Given the description of an element on the screen output the (x, y) to click on. 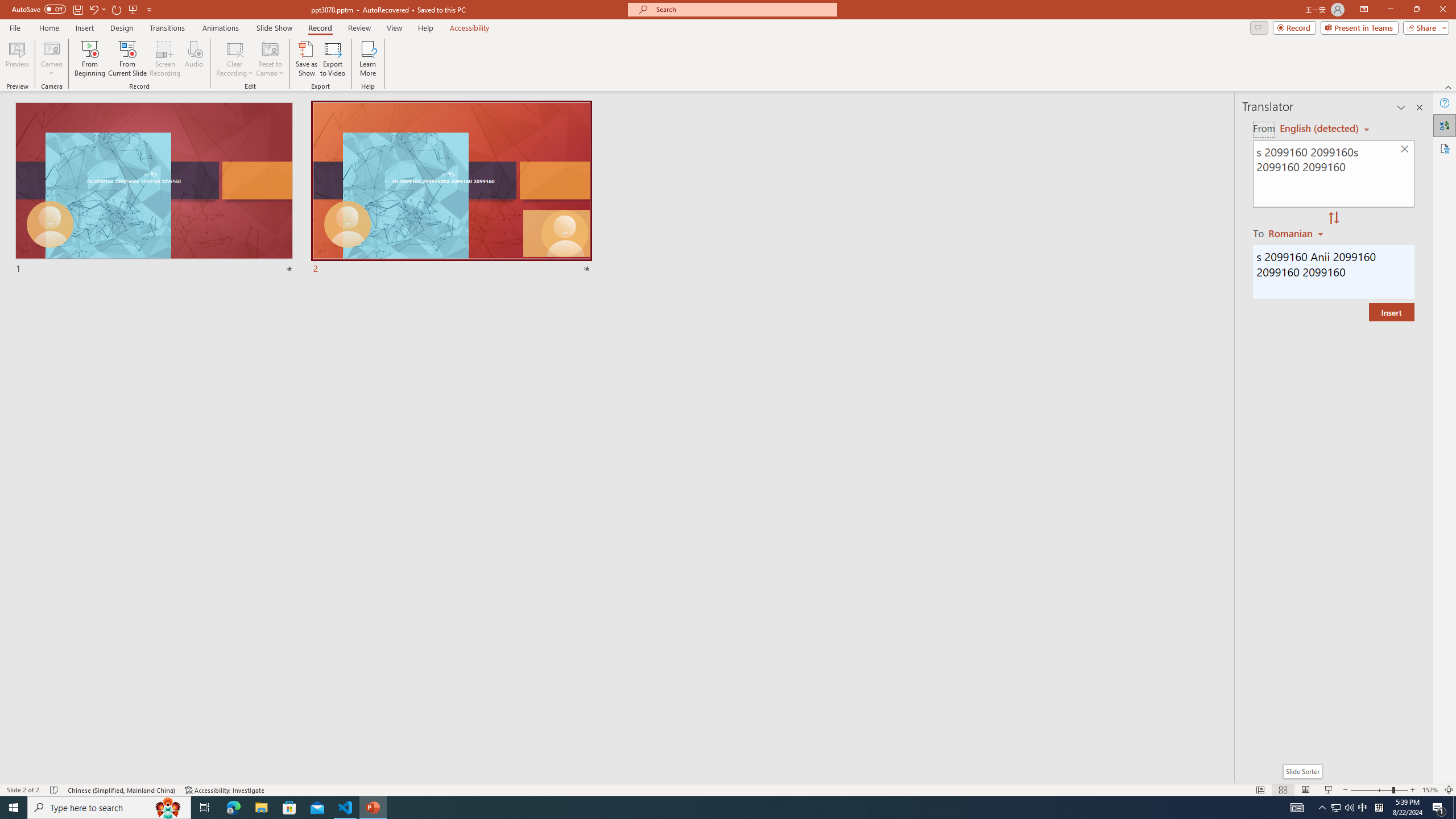
Clear text (1404, 149)
From Beginning... (89, 58)
